Given the description of an element on the screen output the (x, y) to click on. 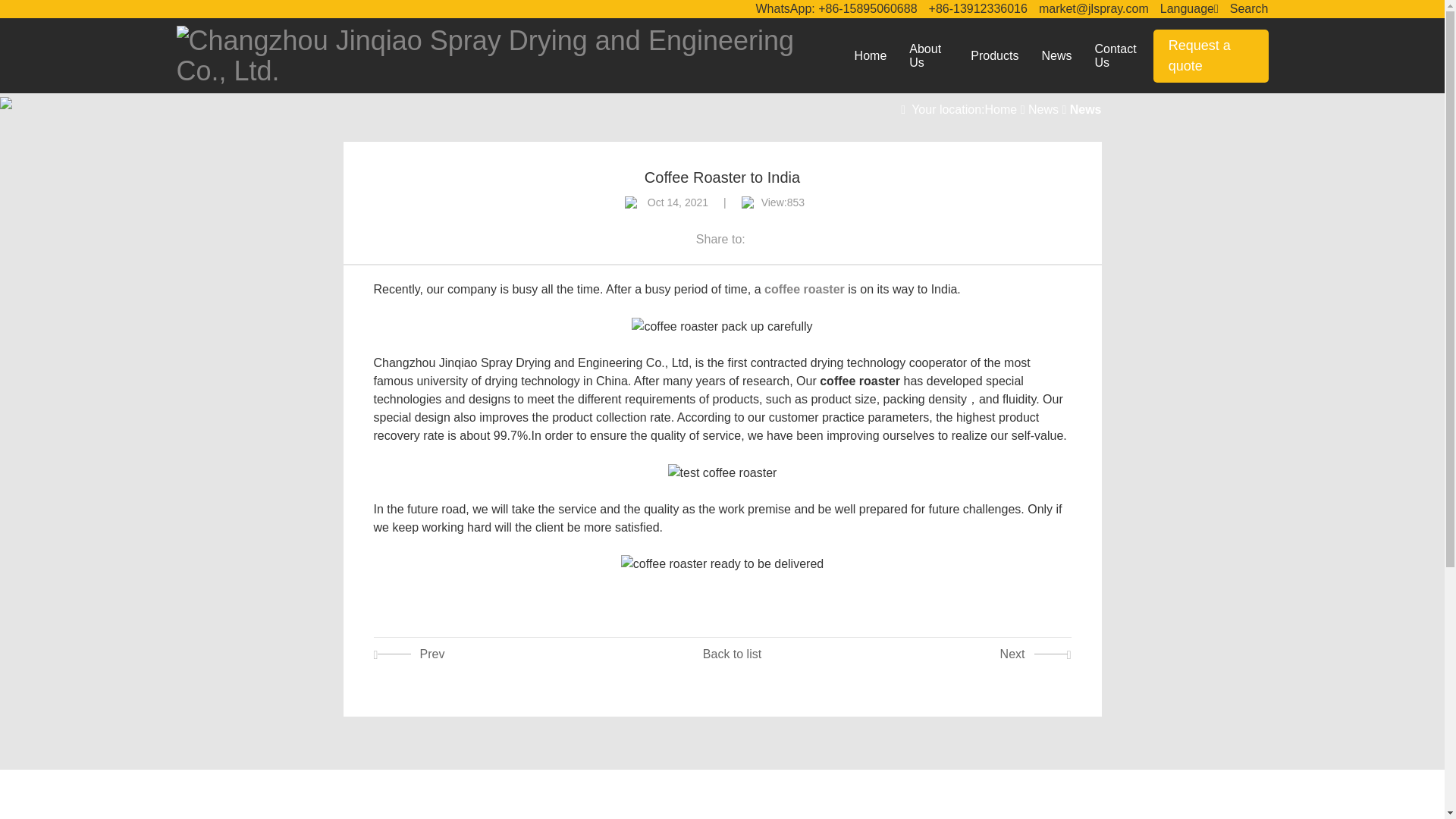
Changzhou Jinqiao Spray Drying and Engineering Co., Ltd. (509, 55)
How to guarantee the stable output of food spray dryer? (505, 654)
test coffee roaster  (722, 473)
About Us (928, 55)
Spray congealer can improve the capacity (938, 654)
Home (870, 55)
coffee roaster pack up carefully (721, 326)
coffee roaster ready to be delivered (722, 564)
